Given the description of an element on the screen output the (x, y) to click on. 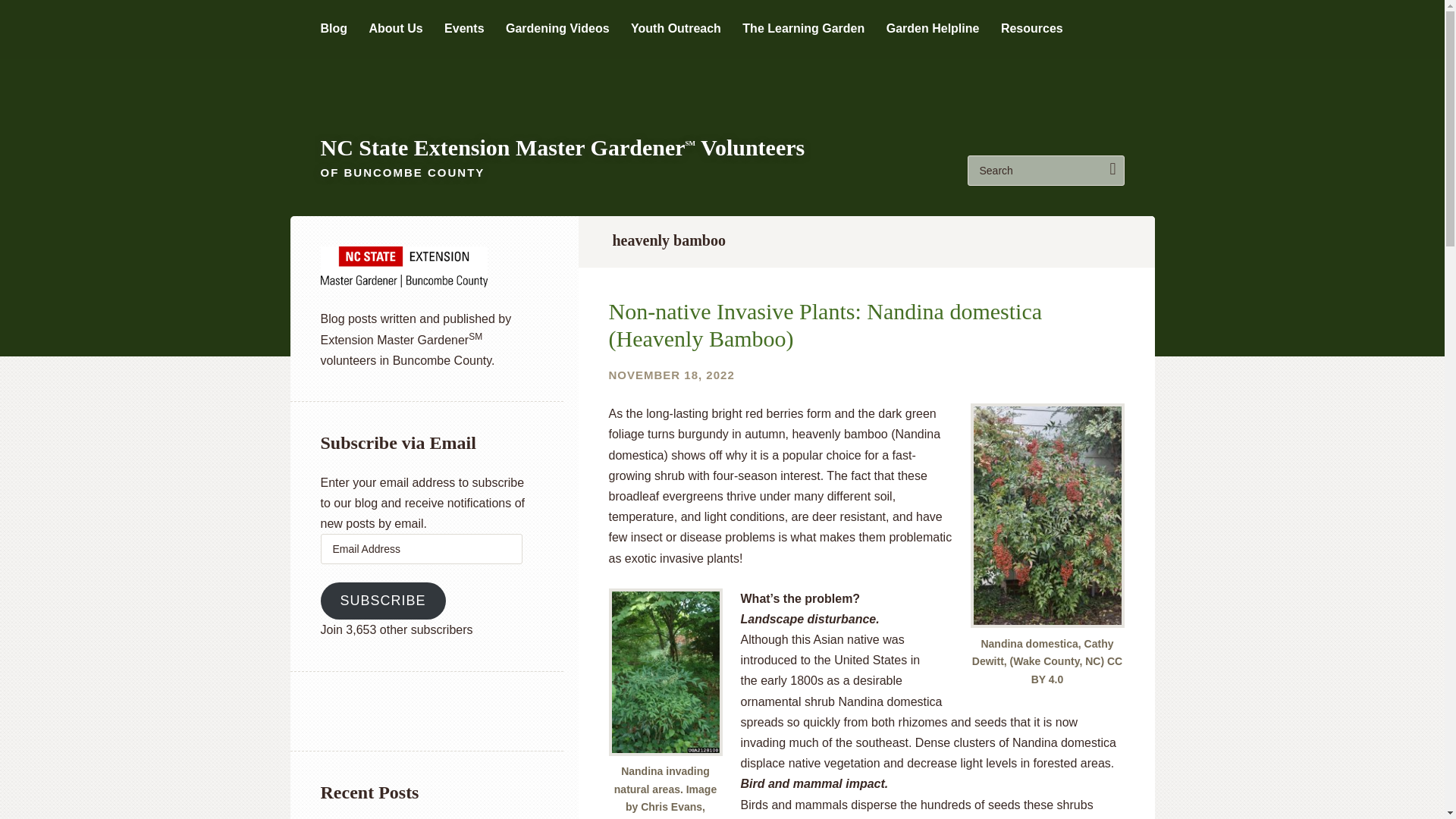
Resources (1031, 28)
About Us (395, 28)
Events (463, 28)
Youth Outreach (675, 28)
The Learning Garden (803, 28)
Garden Helpline (932, 29)
Blog (333, 28)
Gardening Videos (557, 28)
